Given the description of an element on the screen output the (x, y) to click on. 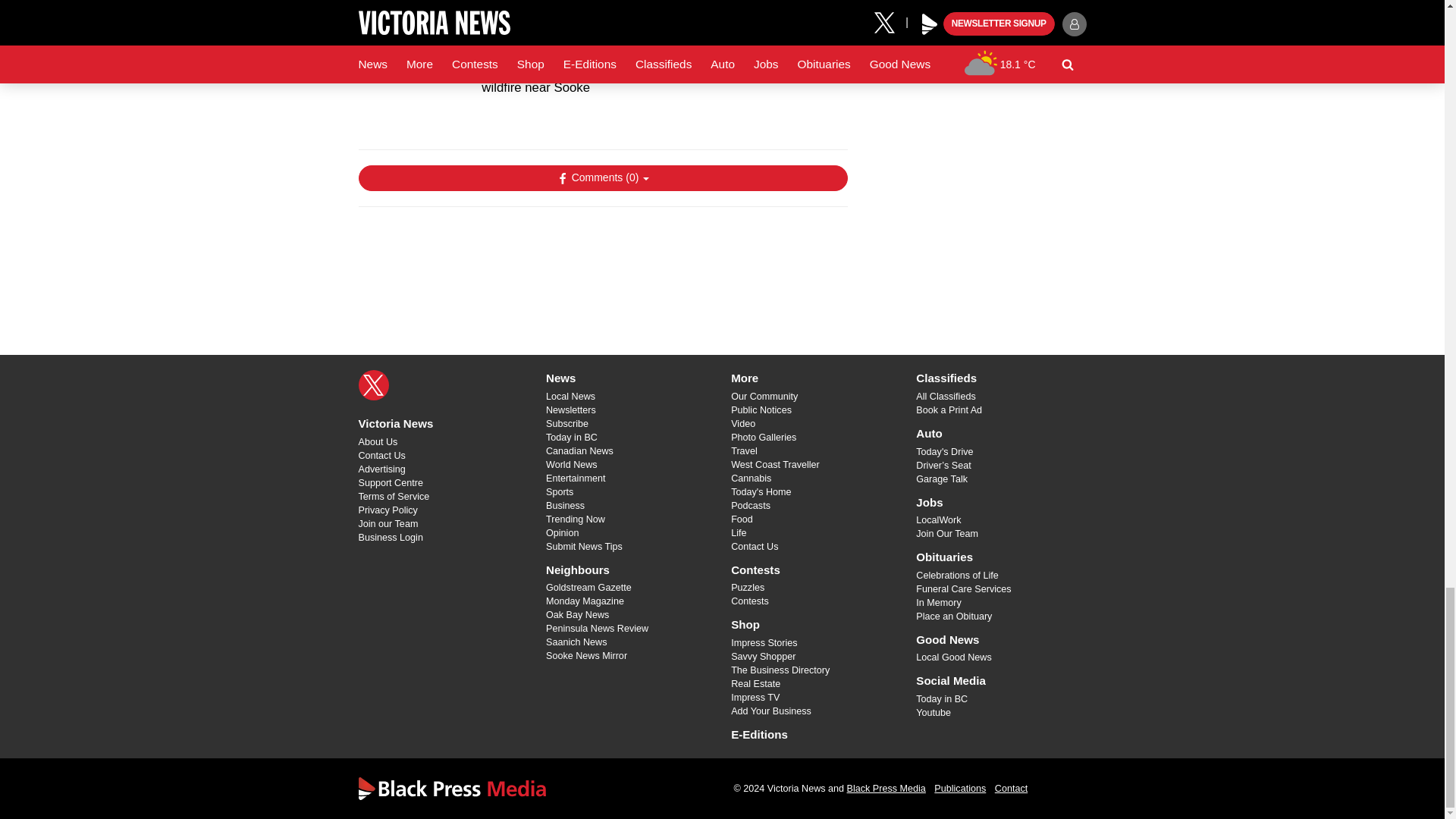
Show Comments (602, 177)
X (373, 385)
